Given the description of an element on the screen output the (x, y) to click on. 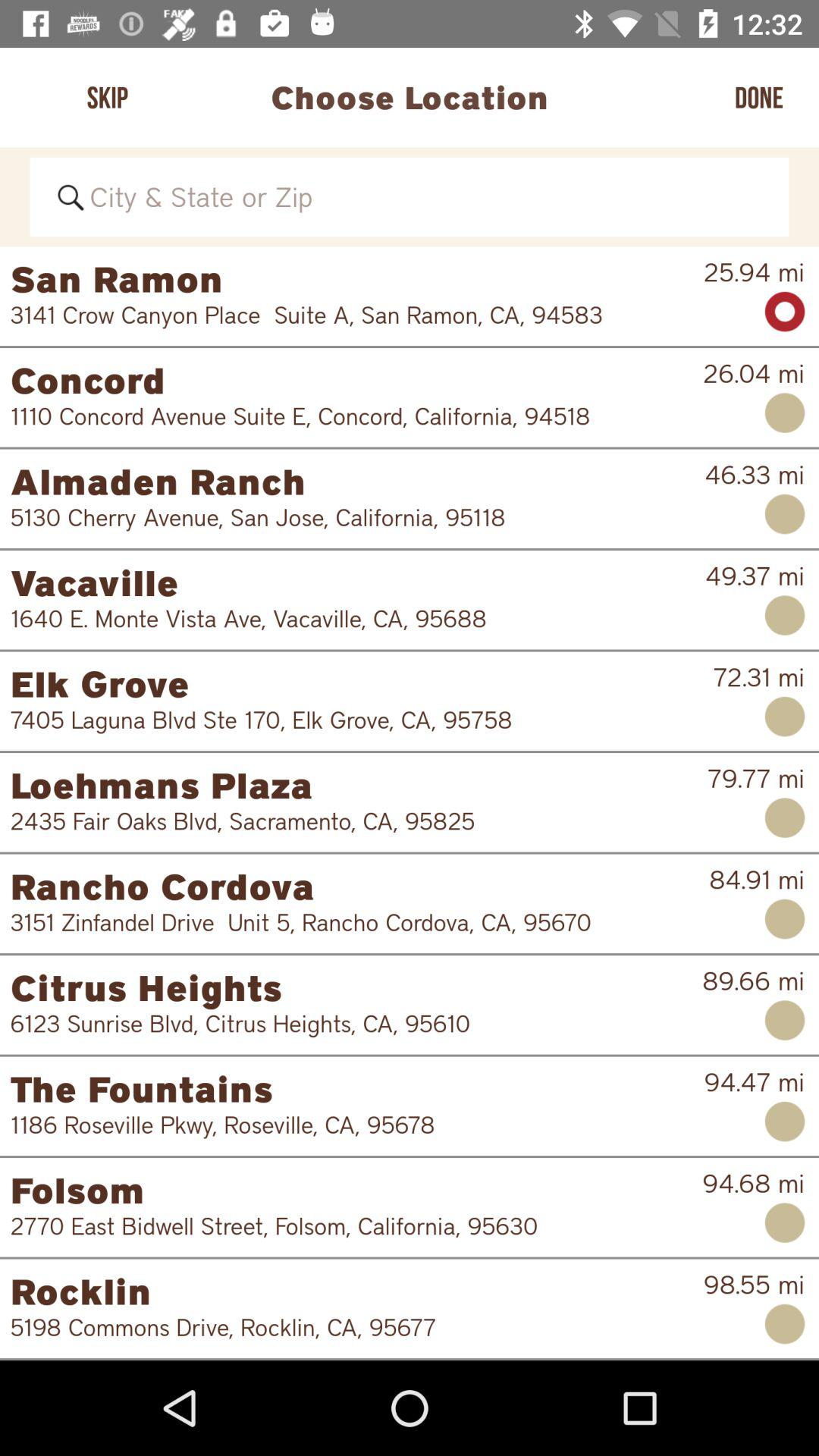
press 89.66 mi icon (753, 980)
